Given the description of an element on the screen output the (x, y) to click on. 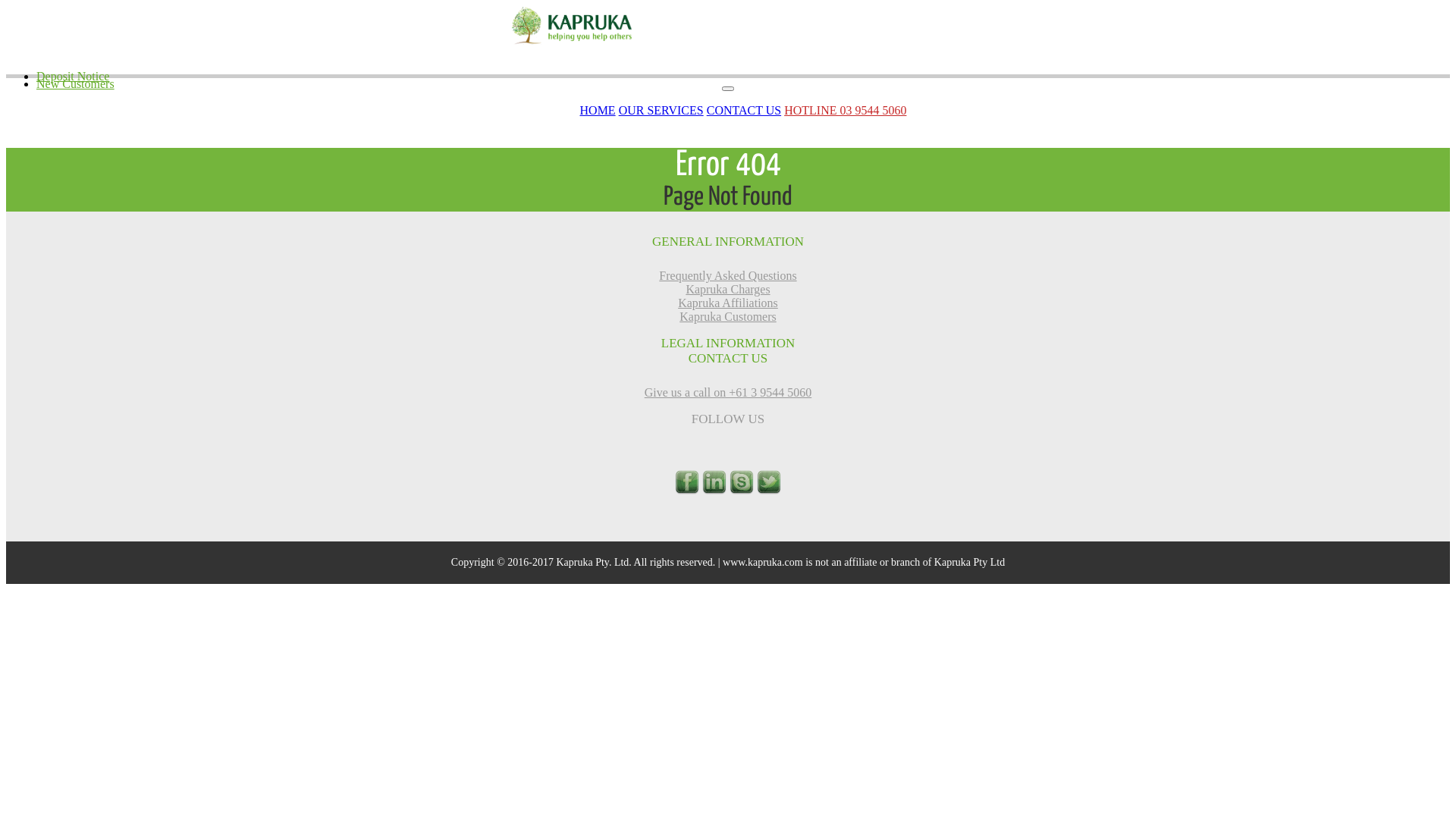
HOME Element type: text (597, 109)
New Customers Element type: text (75, 83)
Frequently Asked Questions Element type: text (727, 275)
CONTACT US Element type: text (743, 109)
Give us a call on +61 3 9544 5060 Element type: text (728, 391)
Kapruka Charges Element type: text (727, 288)
HOTLINE 03 9544 5060 Element type: text (845, 109)
Kapruka Affiliations Element type: text (727, 302)
OUR SERVICES Element type: text (660, 109)
Kapruka Customers Element type: text (727, 316)
Deposit Notice Element type: text (72, 75)
